Given the description of an element on the screen output the (x, y) to click on. 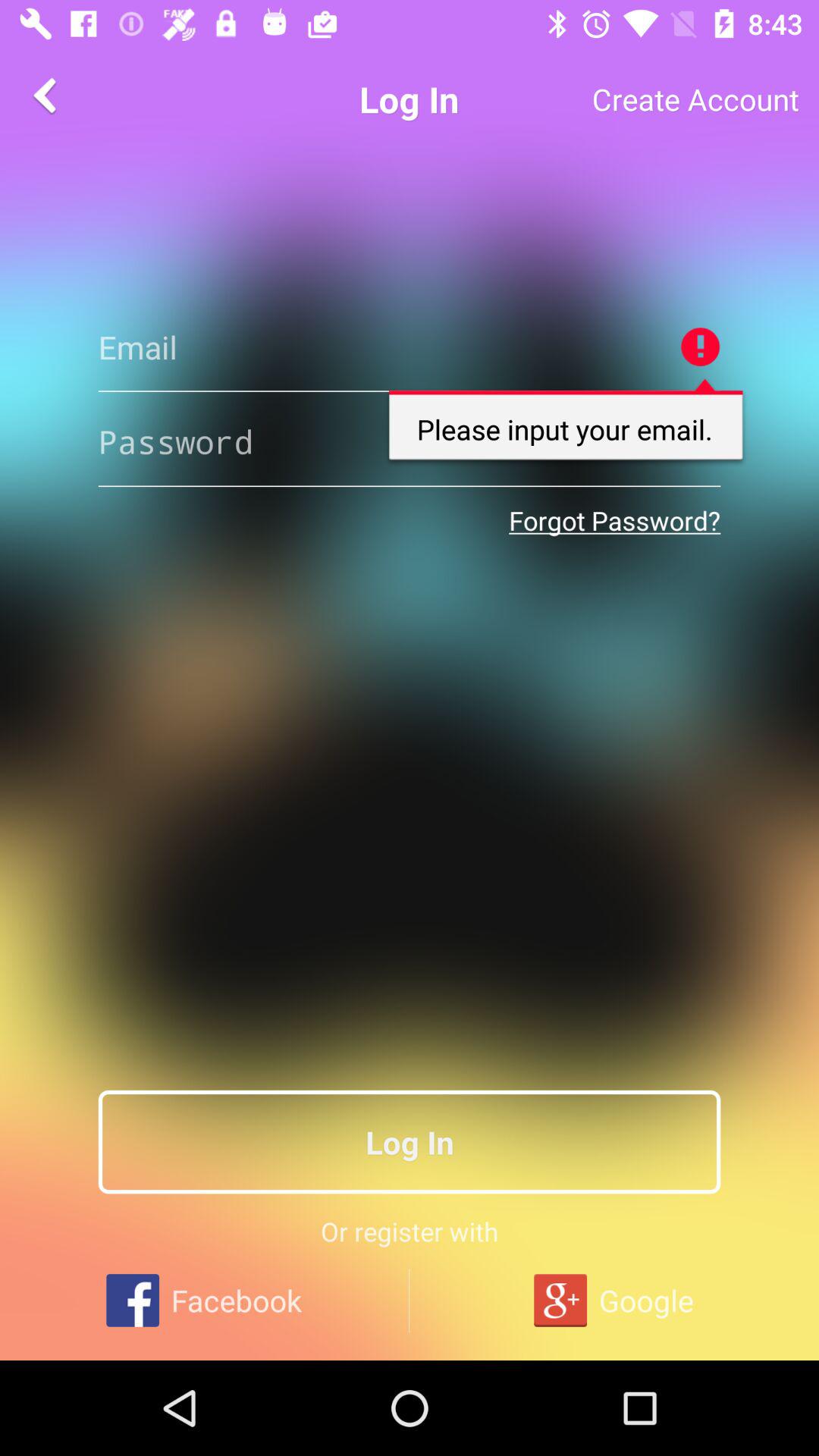
go back (47, 95)
